Given the description of an element on the screen output the (x, y) to click on. 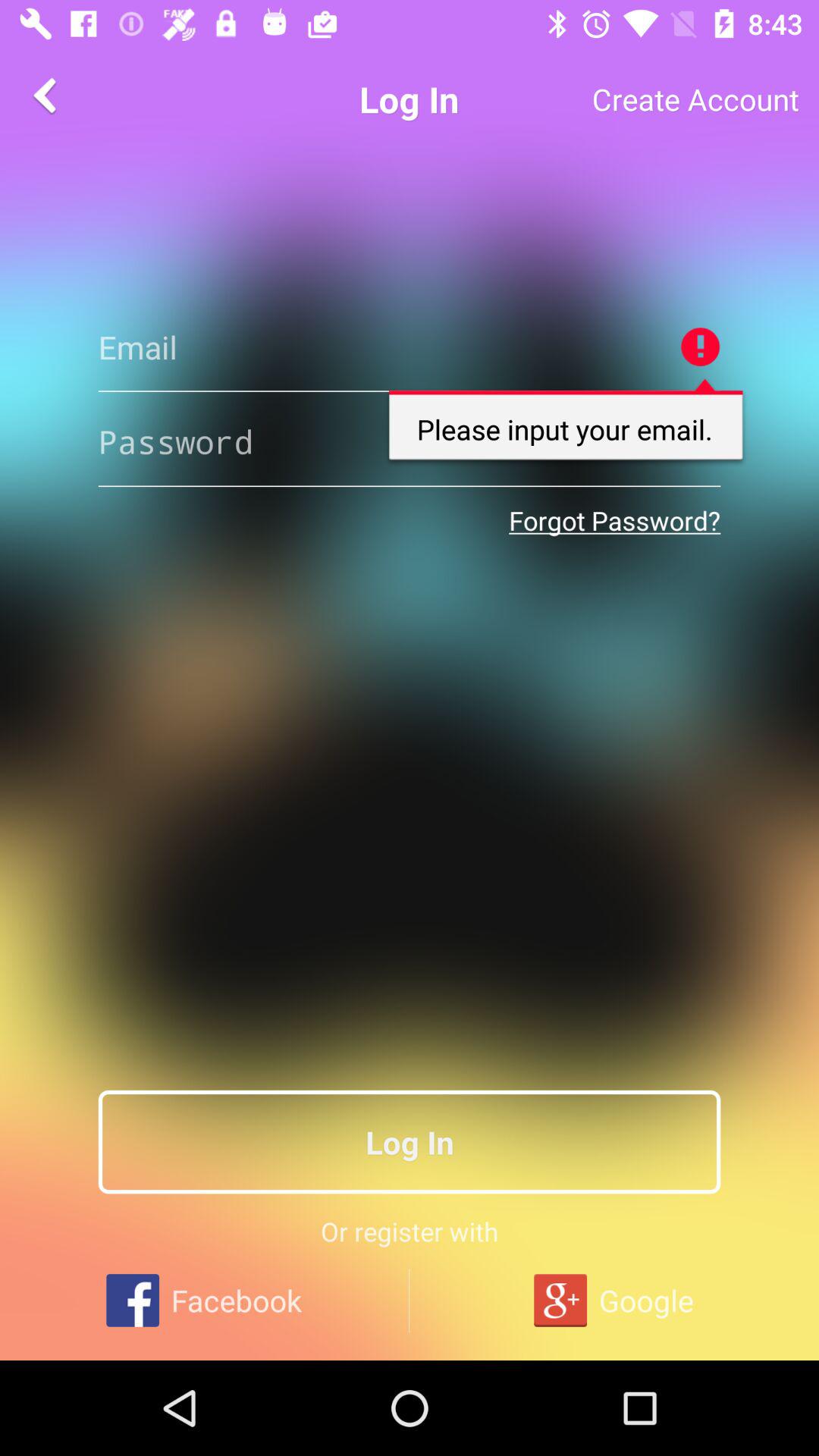
go back (47, 95)
